Given the description of an element on the screen output the (x, y) to click on. 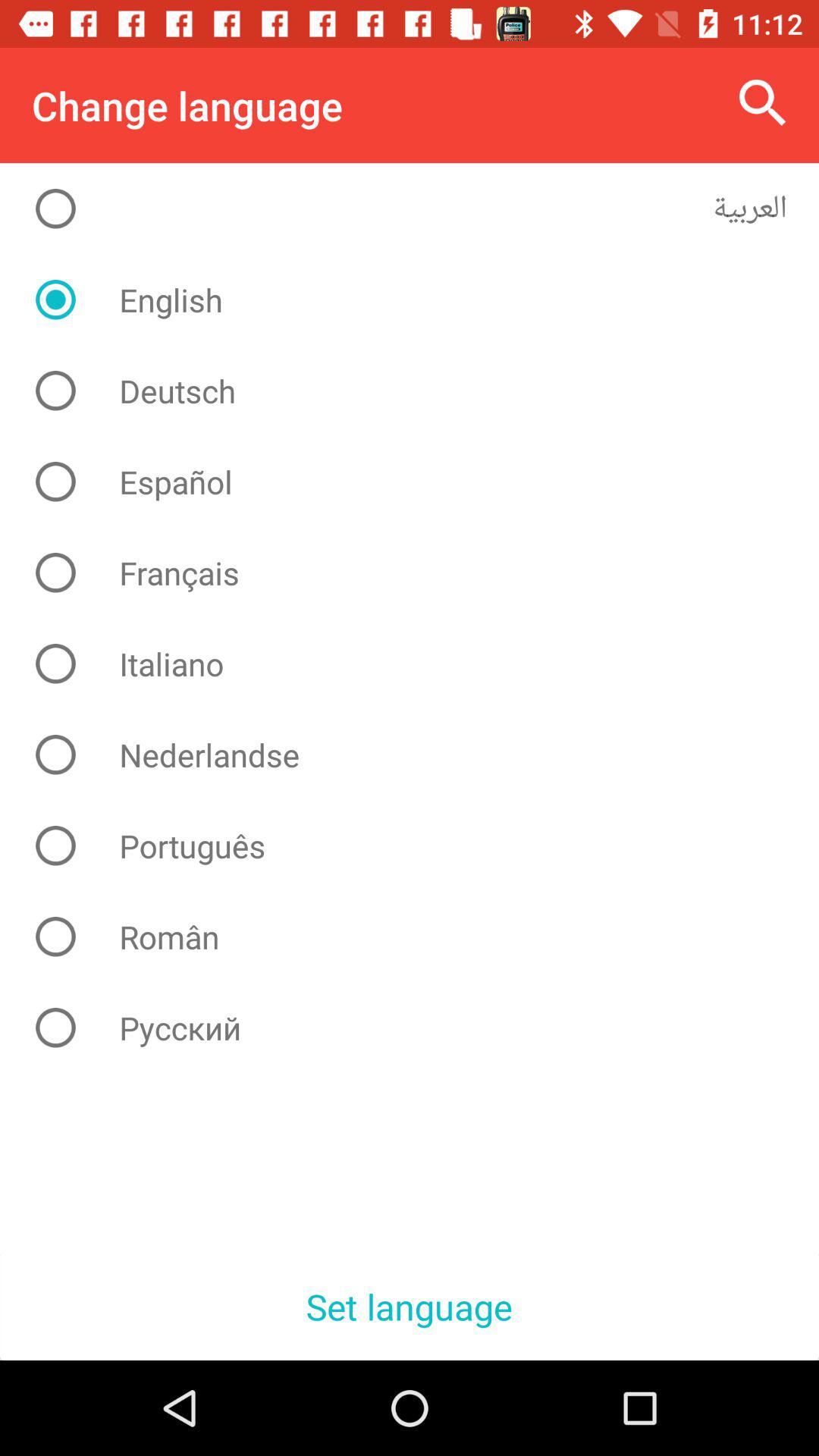
scroll to english item (421, 299)
